Given the description of an element on the screen output the (x, y) to click on. 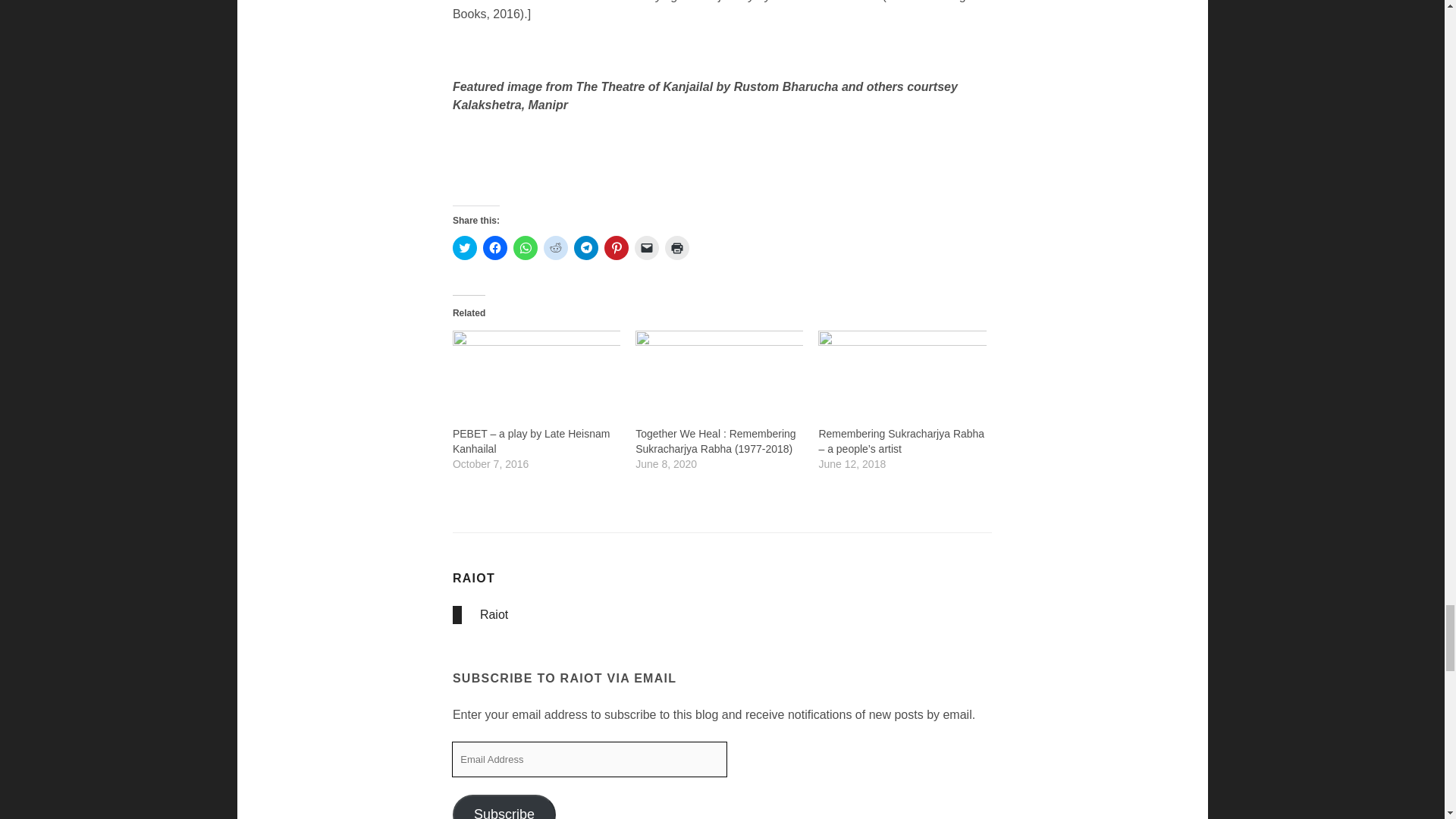
Click to share on Telegram (585, 247)
Click to print (676, 247)
Click to email a link to a friend (646, 247)
Click to share on Pinterest (616, 247)
Click to share on WhatsApp (525, 247)
Click to share on Twitter (464, 247)
Click to share on Facebook (494, 247)
Click to share on Reddit (555, 247)
